Given the description of an element on the screen output the (x, y) to click on. 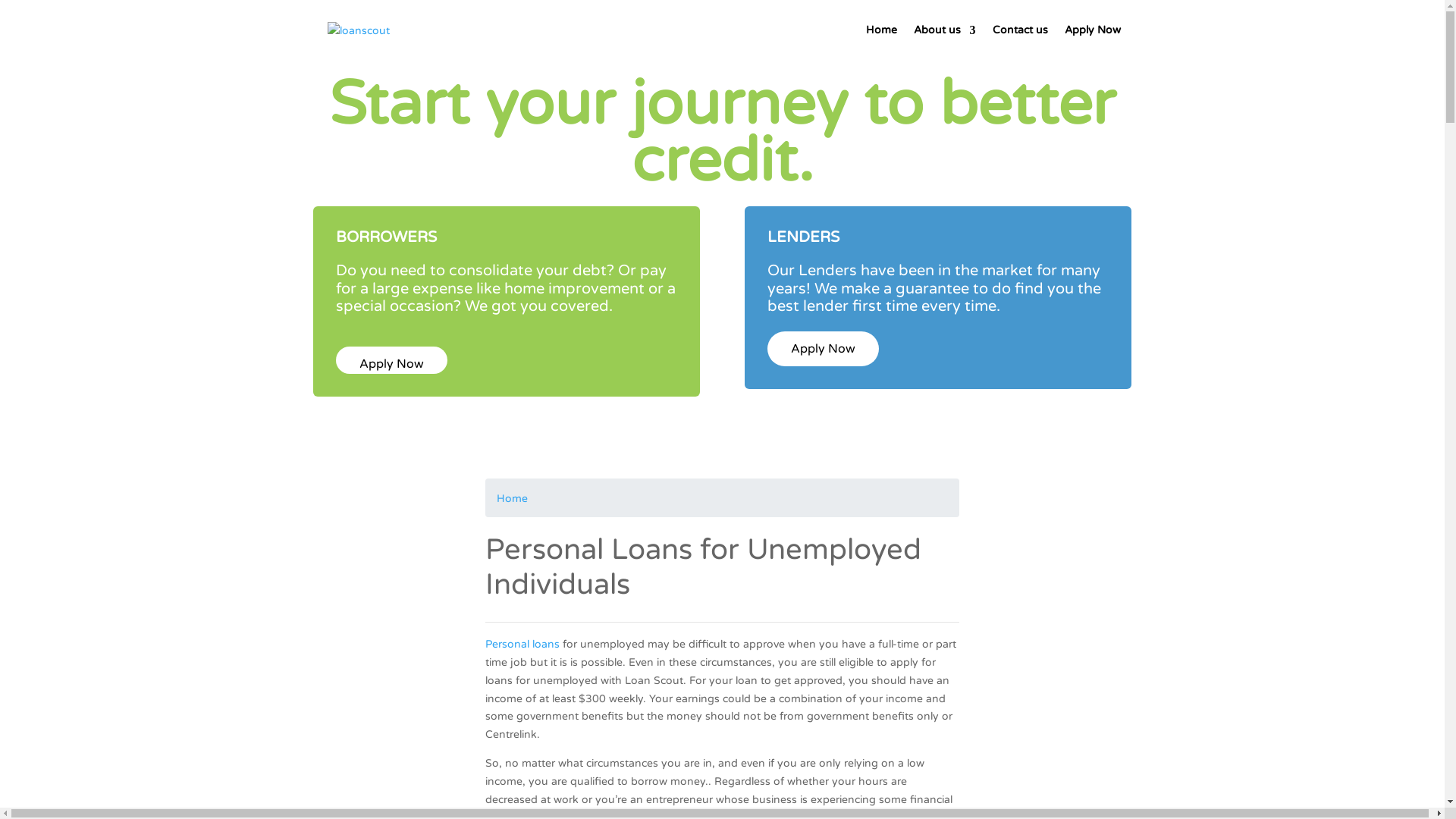
Apply Now Element type: text (822, 348)
Apply Now Element type: text (1092, 42)
Home Element type: text (881, 42)
Contact us Element type: text (1019, 42)
Home Element type: text (511, 498)
About us Element type: text (944, 42)
Apply Now Element type: text (391, 363)
Personal loans Element type: text (522, 643)
